Given the description of an element on the screen output the (x, y) to click on. 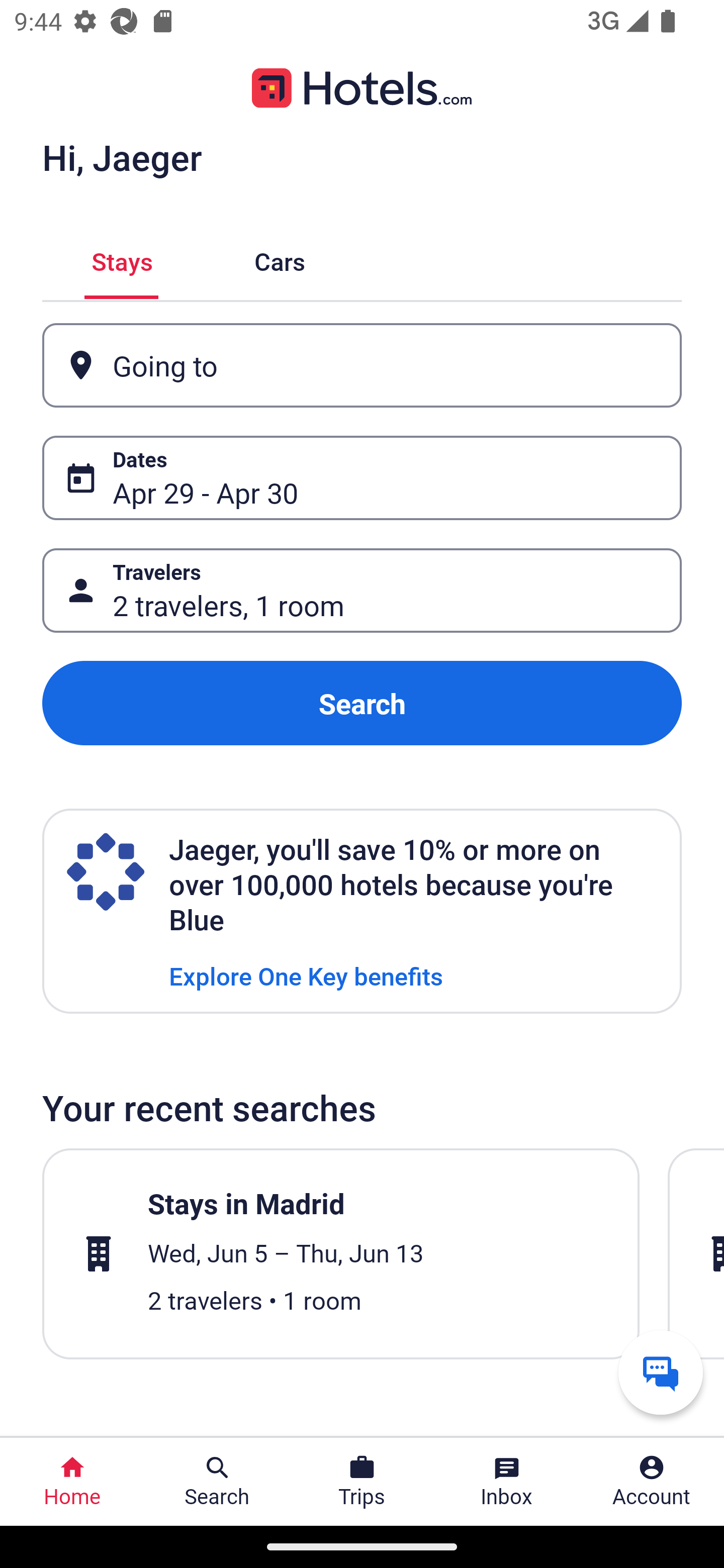
Hi, Jaeger (121, 156)
Cars (279, 259)
Going to Button (361, 365)
Dates Button Apr 29 - Apr 30 (361, 477)
Travelers Button 2 travelers, 1 room (361, 590)
Search (361, 702)
Get help from a virtual agent (660, 1371)
Search Search Button (216, 1481)
Trips Trips Button (361, 1481)
Inbox Inbox Button (506, 1481)
Account Profile. Button (651, 1481)
